Given the description of an element on the screen output the (x, y) to click on. 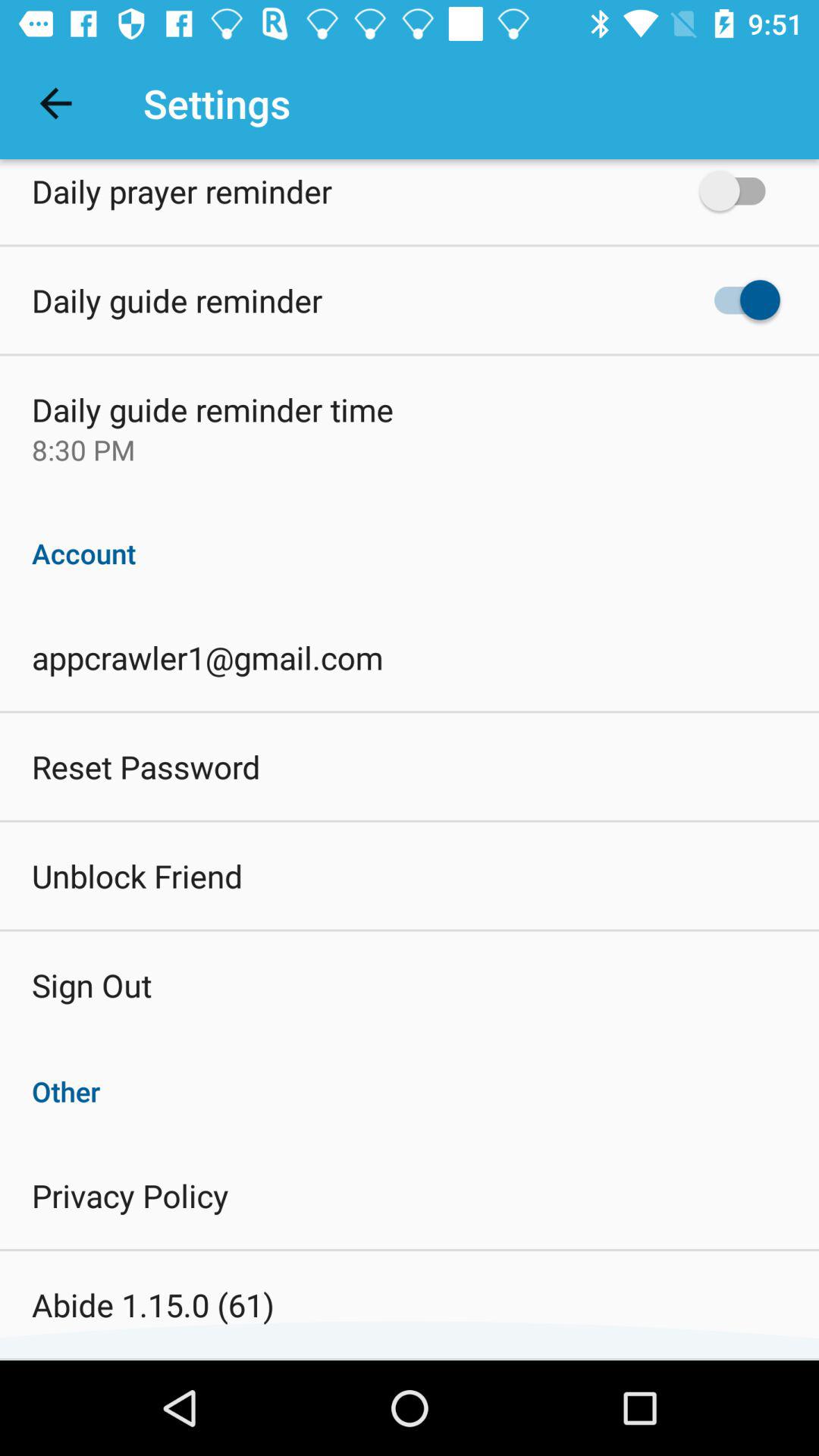
choose icon to the left of settings icon (55, 103)
